Given the description of an element on the screen output the (x, y) to click on. 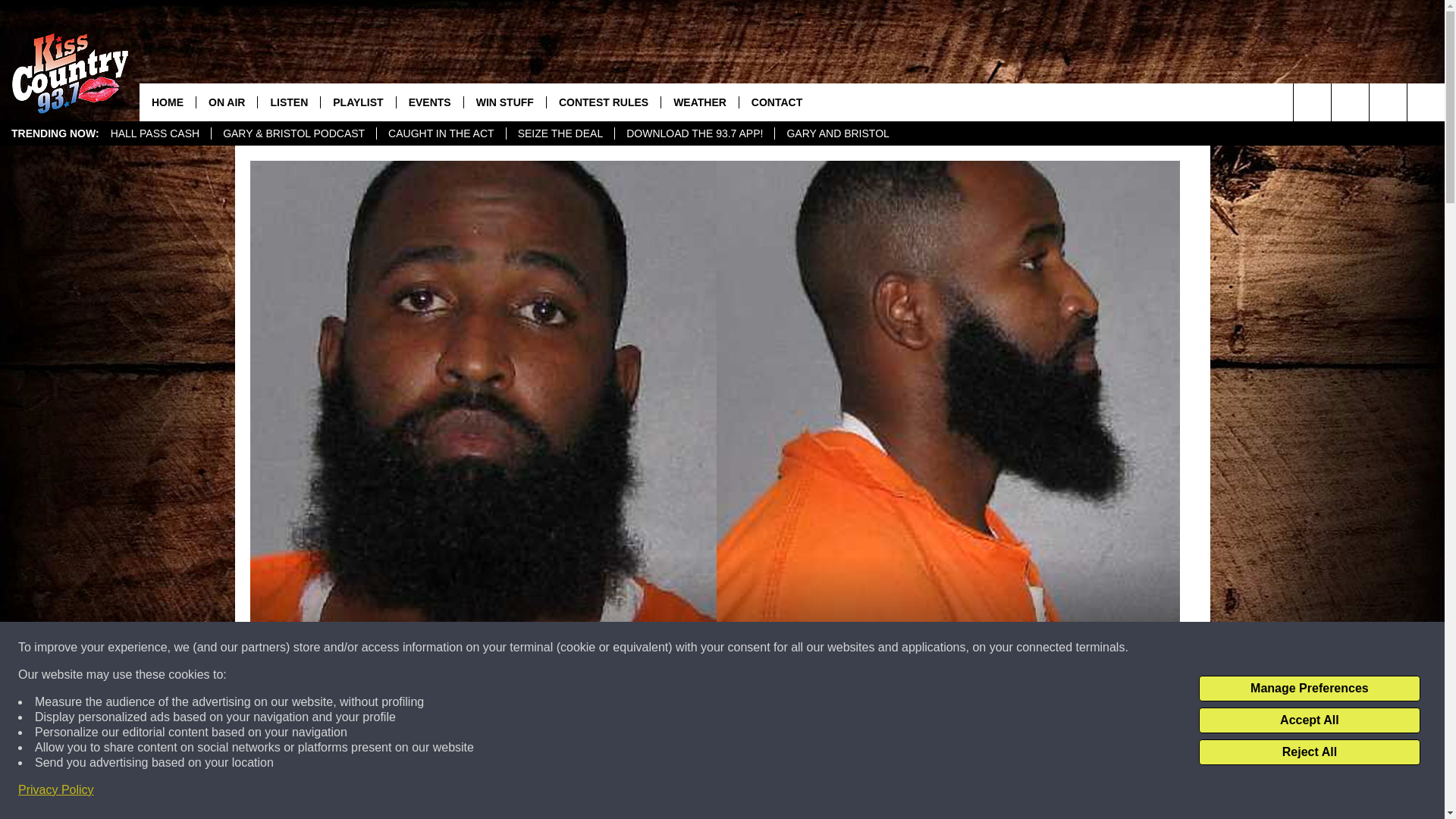
SEIZE THE DEAL (559, 133)
ON AIR (226, 102)
Manage Preferences (1309, 688)
Privacy Policy (55, 789)
DOWNLOAD THE 93.7 APP! (694, 133)
Accept All (1309, 720)
HALL PASS CASH (155, 133)
PLAYLIST (357, 102)
CONTEST RULES (603, 102)
Share on Twitter (912, 791)
CAUGHT IN THE ACT (440, 133)
Reject All (1309, 751)
GARY AND BRISTOL (836, 133)
WIN STUFF (504, 102)
Share on Facebook (517, 791)
